Given the description of an element on the screen output the (x, y) to click on. 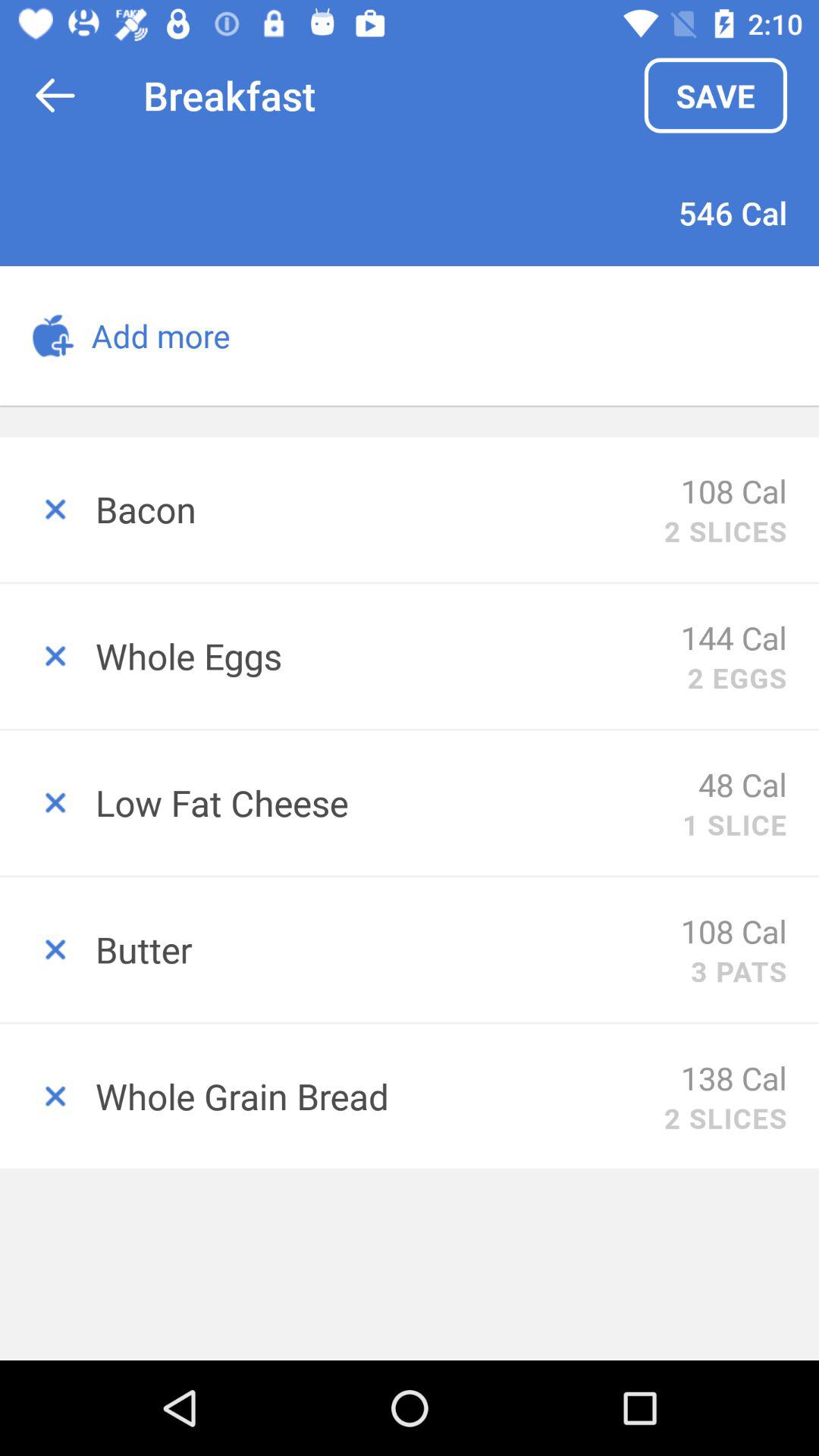
select item above the add more (55, 95)
